Given the description of an element on the screen output the (x, y) to click on. 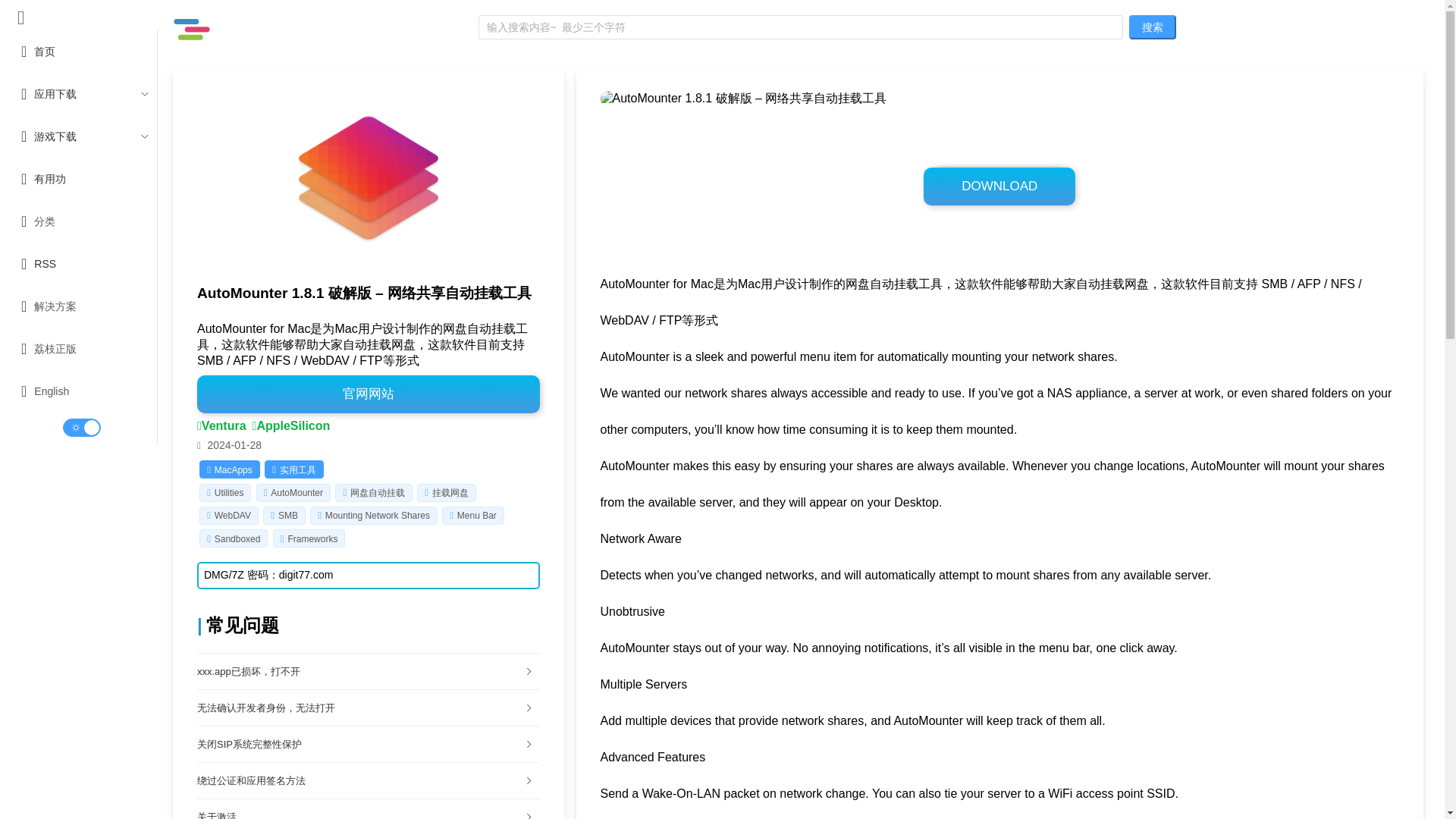
Frameworks (311, 538)
Sandboxed (237, 538)
SMB (288, 515)
WebDAV (232, 515)
AutoMounter (296, 492)
Menu Bar (476, 515)
Mounting Network Shares (376, 515)
Utilities (229, 492)
MacApps (228, 470)
